Given the description of an element on the screen output the (x, y) to click on. 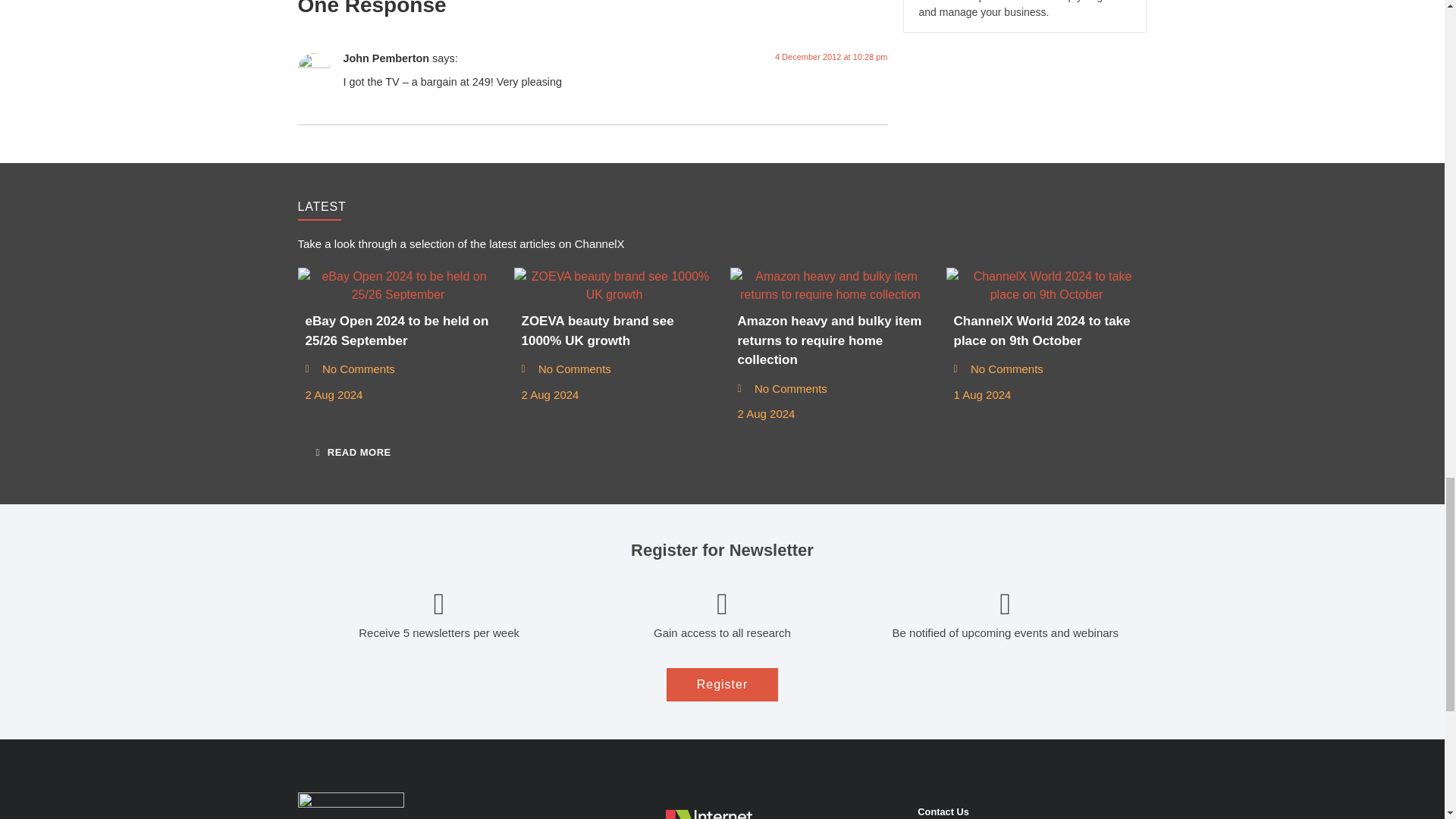
eBay Open 2024 to be held on 25-26 September (397, 285)
ChannelX World 2024 to take place on 9th October (1046, 285)
FBA-Heavy-and-Bulky-Spain-launched-with-120kg-allowance (829, 285)
